Given the description of an element on the screen output the (x, y) to click on. 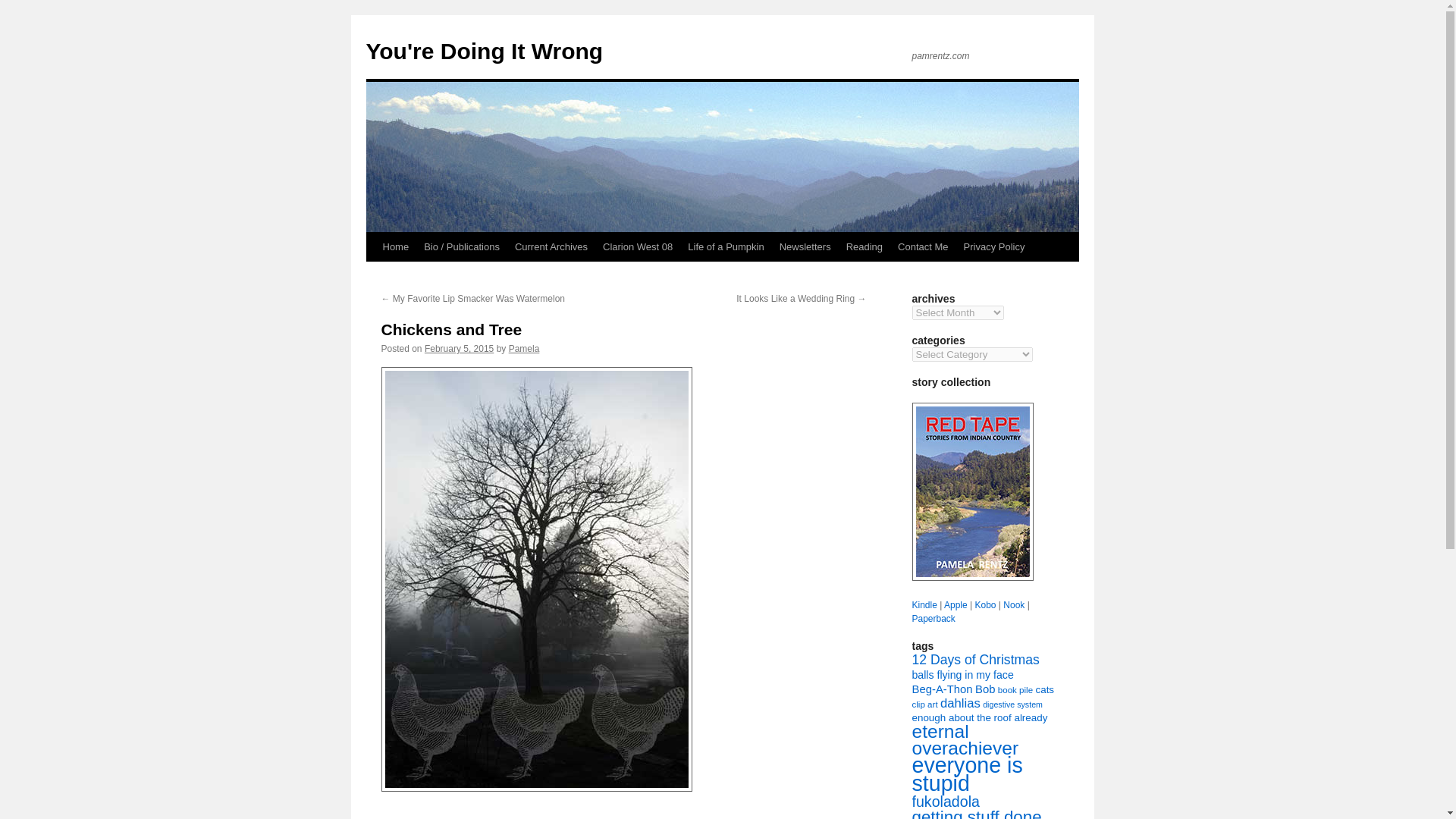
February 5, 2015 (459, 348)
book pile (1014, 689)
digestive system (1012, 704)
Clarion West 08 (637, 246)
Apple (955, 604)
View all posts by Pamela (524, 348)
cats (1044, 689)
You're Doing It Wrong (483, 50)
Kobo (984, 604)
enough about the roof already (978, 717)
